Given the description of an element on the screen output the (x, y) to click on. 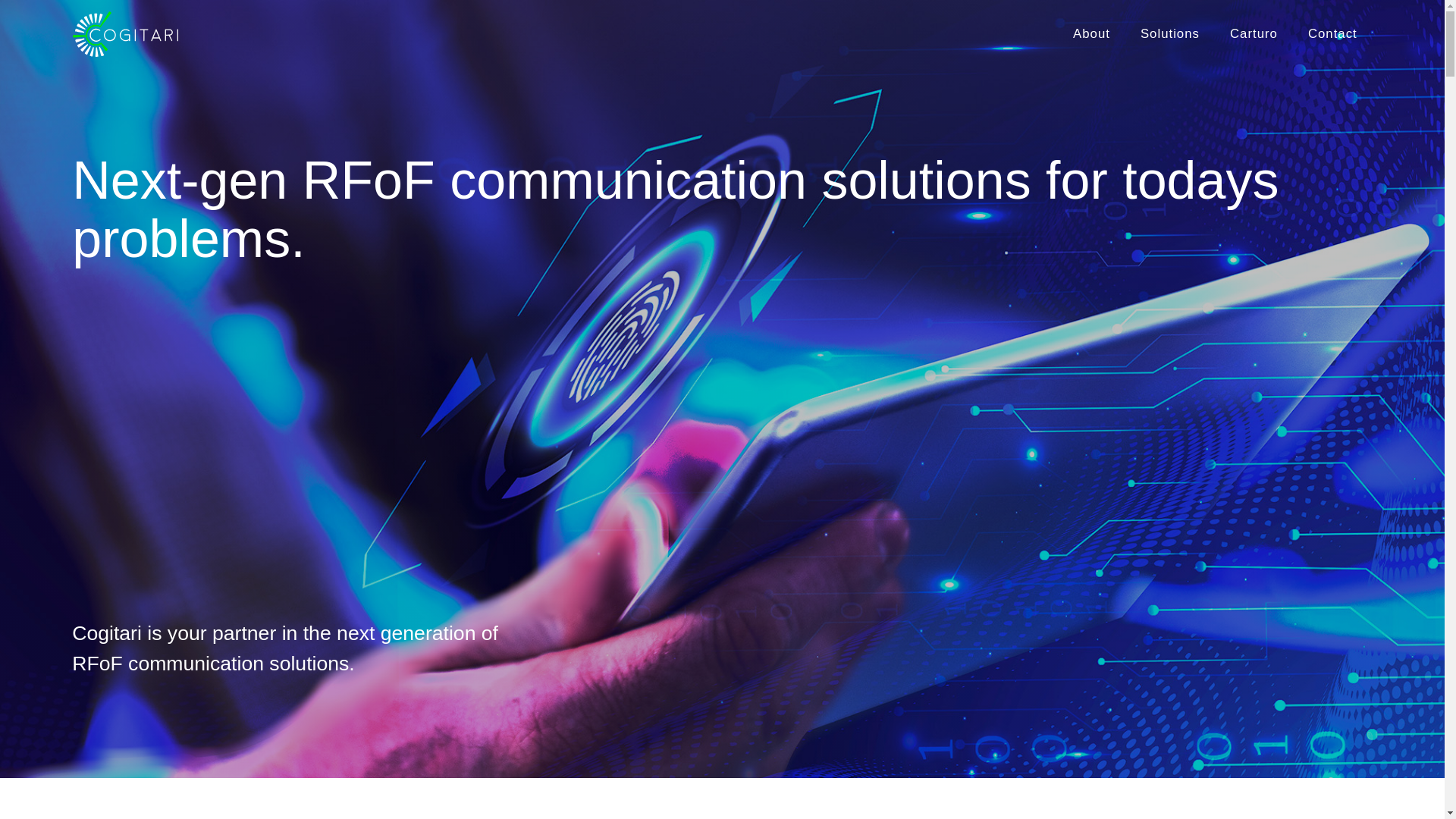
About (1091, 34)
Carturo (1253, 34)
Solutions (1169, 34)
Contact (1332, 34)
